Given the description of an element on the screen output the (x, y) to click on. 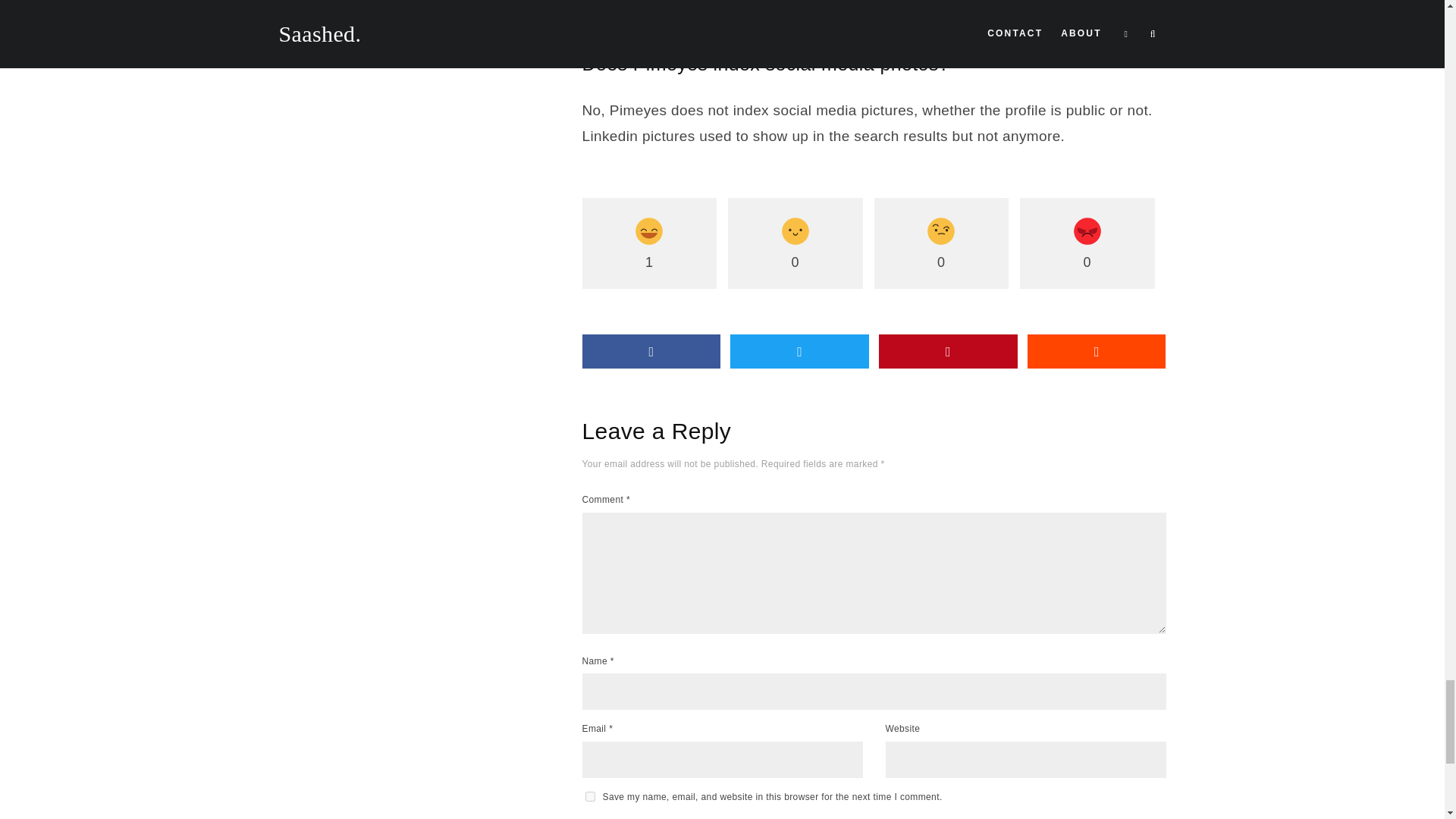
0 (795, 243)
yes (590, 796)
0 (1087, 243)
1 (649, 243)
0 (941, 243)
